Given the description of an element on the screen output the (x, y) to click on. 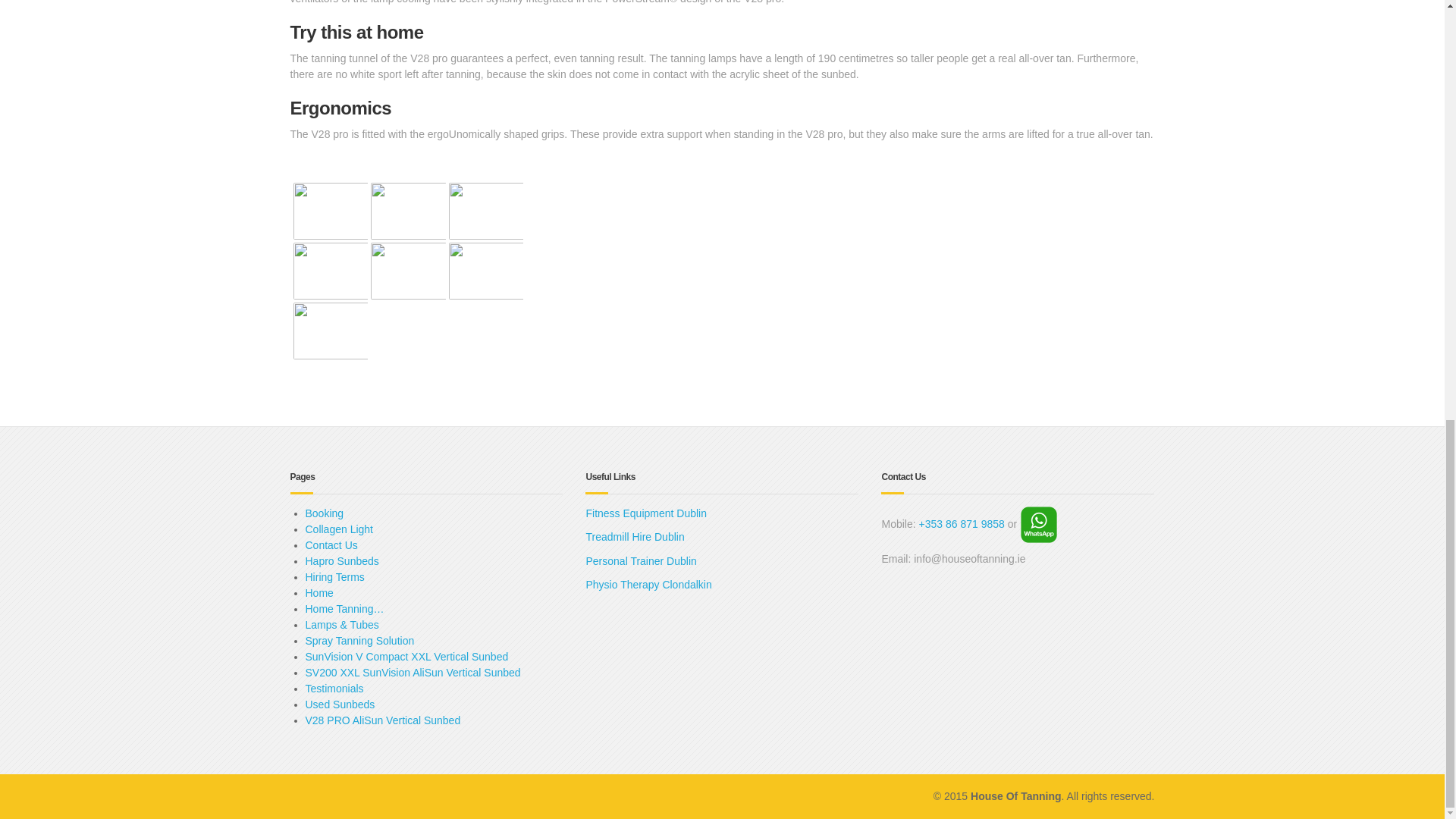
Treadmill Hire (634, 536)
Home (318, 592)
Collagen Light (338, 529)
Hapro Sunbeds (341, 561)
fitness equipment (645, 512)
Booking (323, 512)
Contact Us (330, 544)
Hiring Terms (334, 576)
Fitness Trainer (640, 561)
